Given the description of an element on the screen output the (x, y) to click on. 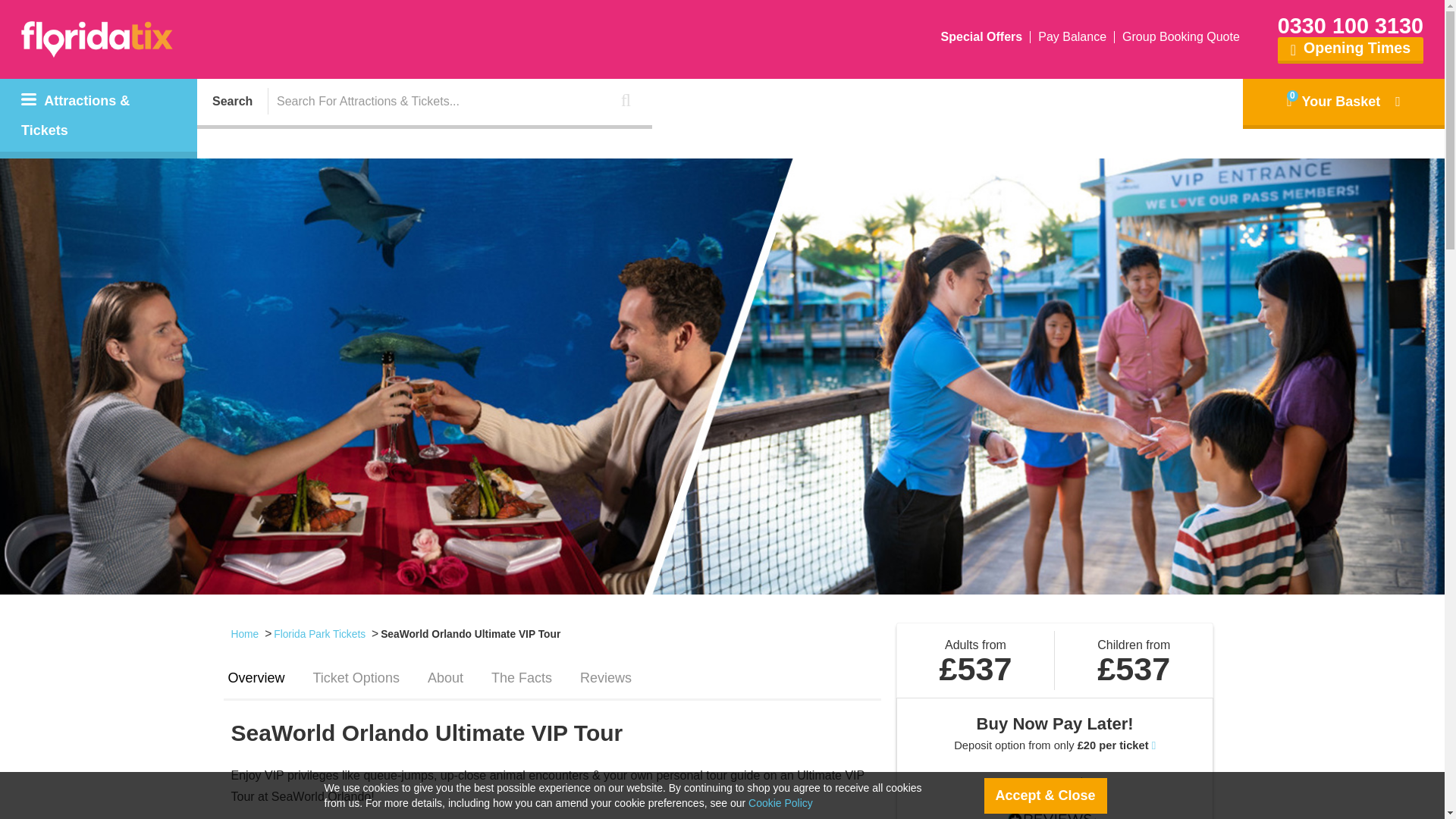
Overview (255, 682)
The Facts (521, 682)
About (445, 682)
Ticket Options (356, 682)
Group Booking Quote (1181, 37)
Opening Times (1350, 49)
Reviews (605, 682)
Pay Balance (1072, 37)
Cookie Policy (780, 802)
Special Offers (981, 37)
